Given the description of an element on the screen output the (x, y) to click on. 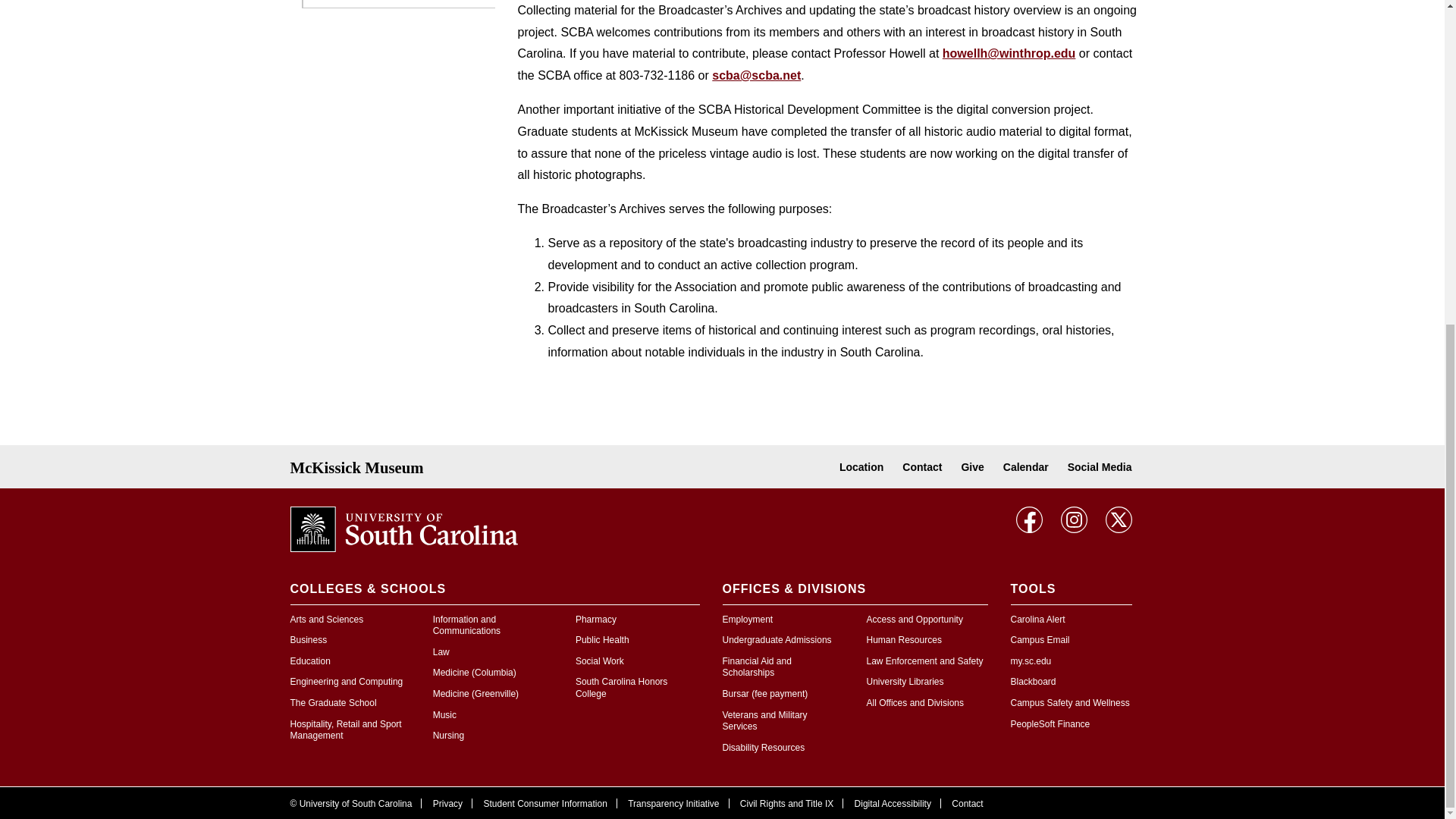
University of South Carolina (402, 527)
